Given the description of an element on the screen output the (x, y) to click on. 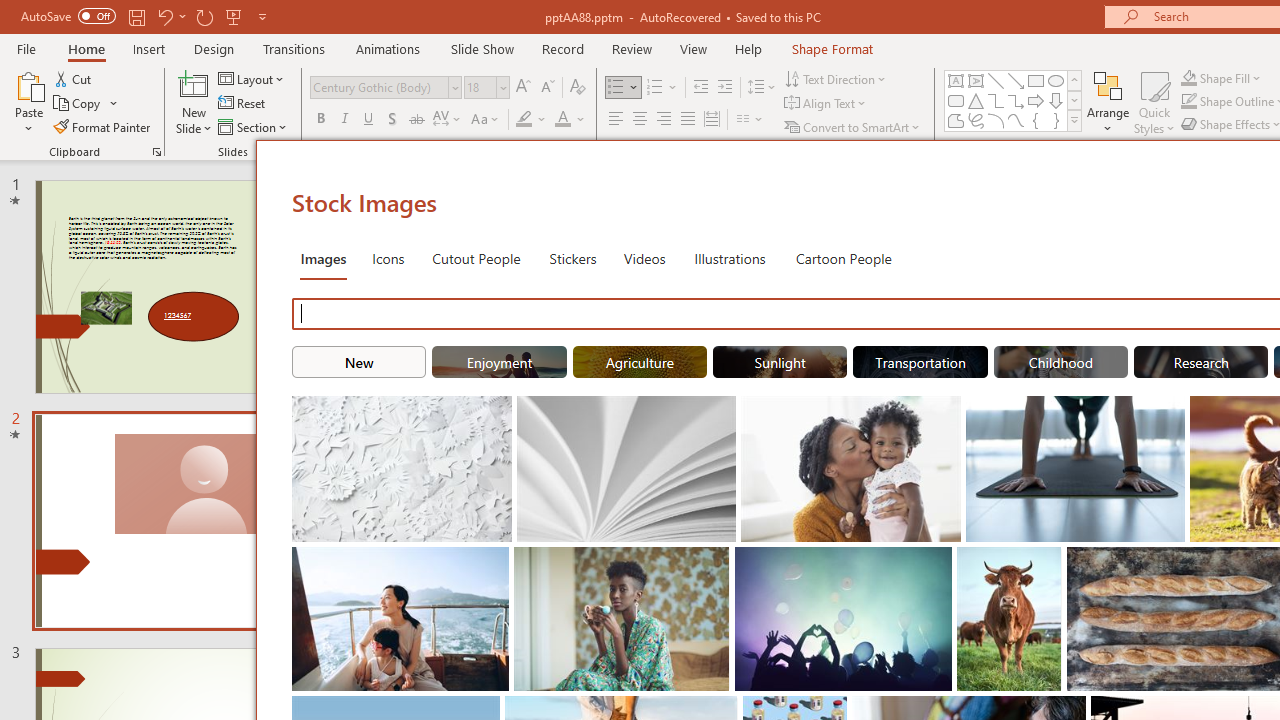
"Transportation" Stock Images. (920, 362)
"Agriculture" Stock Images. (639, 362)
Shape Outline Teal, Accent 1 (1188, 101)
